Given the description of an element on the screen output the (x, y) to click on. 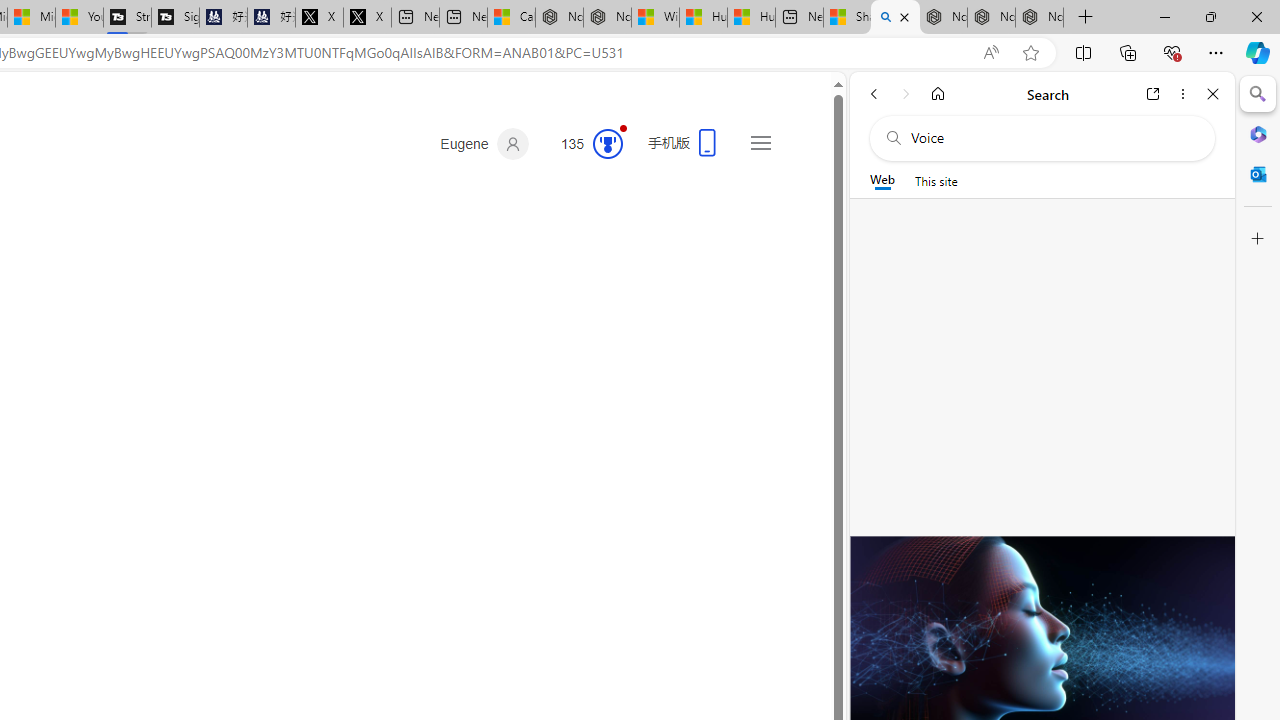
Minimize (1164, 16)
Nordace - Summer Adventures 2024 (607, 17)
Nordace - Best Sellers (943, 17)
More options (1182, 93)
Close tab (904, 16)
Browser essentials (1171, 52)
Add this page to favorites (Ctrl+D) (1030, 53)
Nordace Siena Pro 15 Backpack (991, 17)
Class: medal-svg-animation (607, 143)
Read aloud this page (Ctrl+Shift+U) (991, 53)
Wildlife - MSN (655, 17)
Shanghai, China hourly forecast | Microsoft Weather (847, 17)
Search (1258, 94)
